Given the description of an element on the screen output the (x, y) to click on. 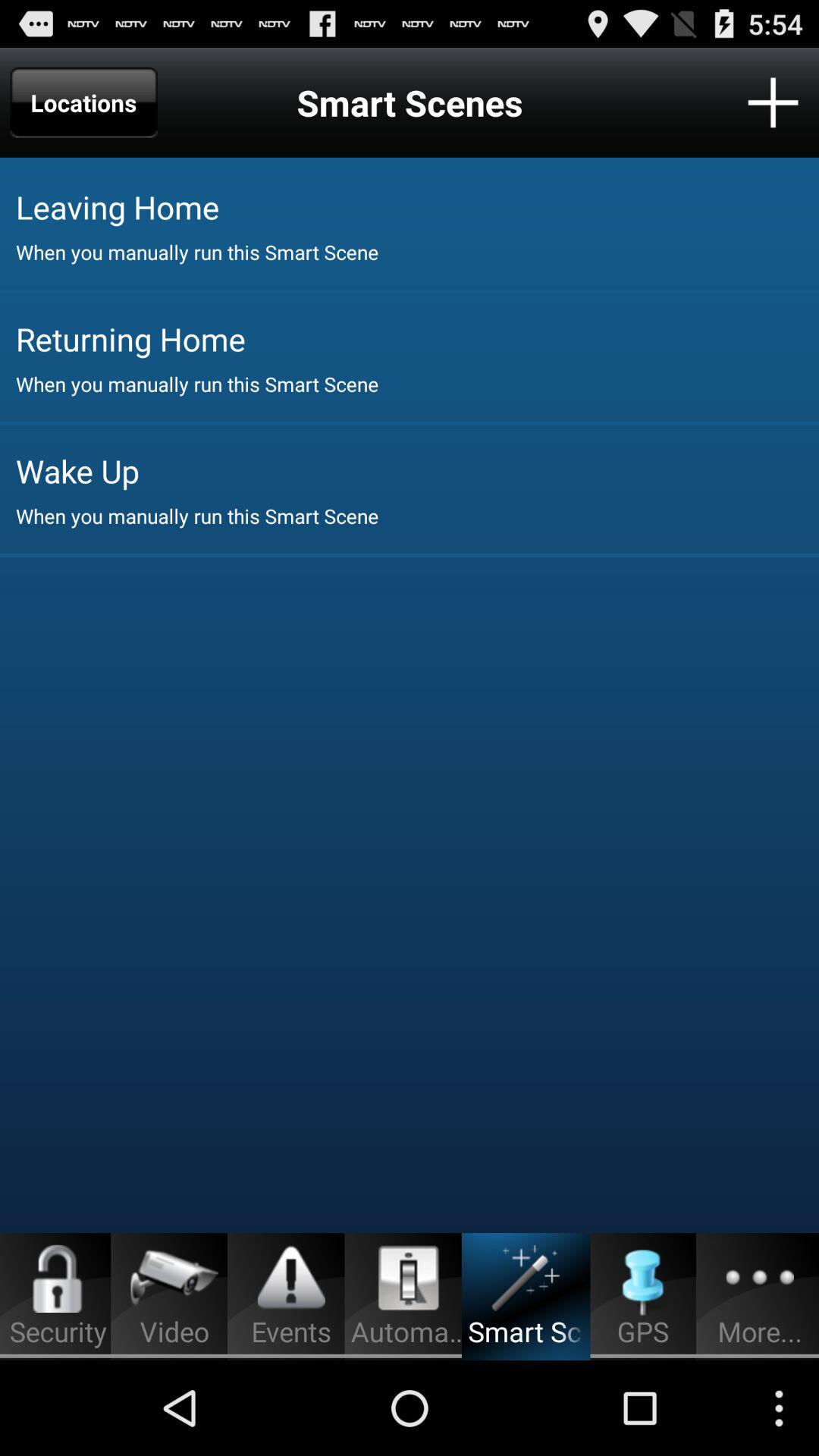
jump to leaving home icon (417, 206)
